Given the description of an element on the screen output the (x, y) to click on. 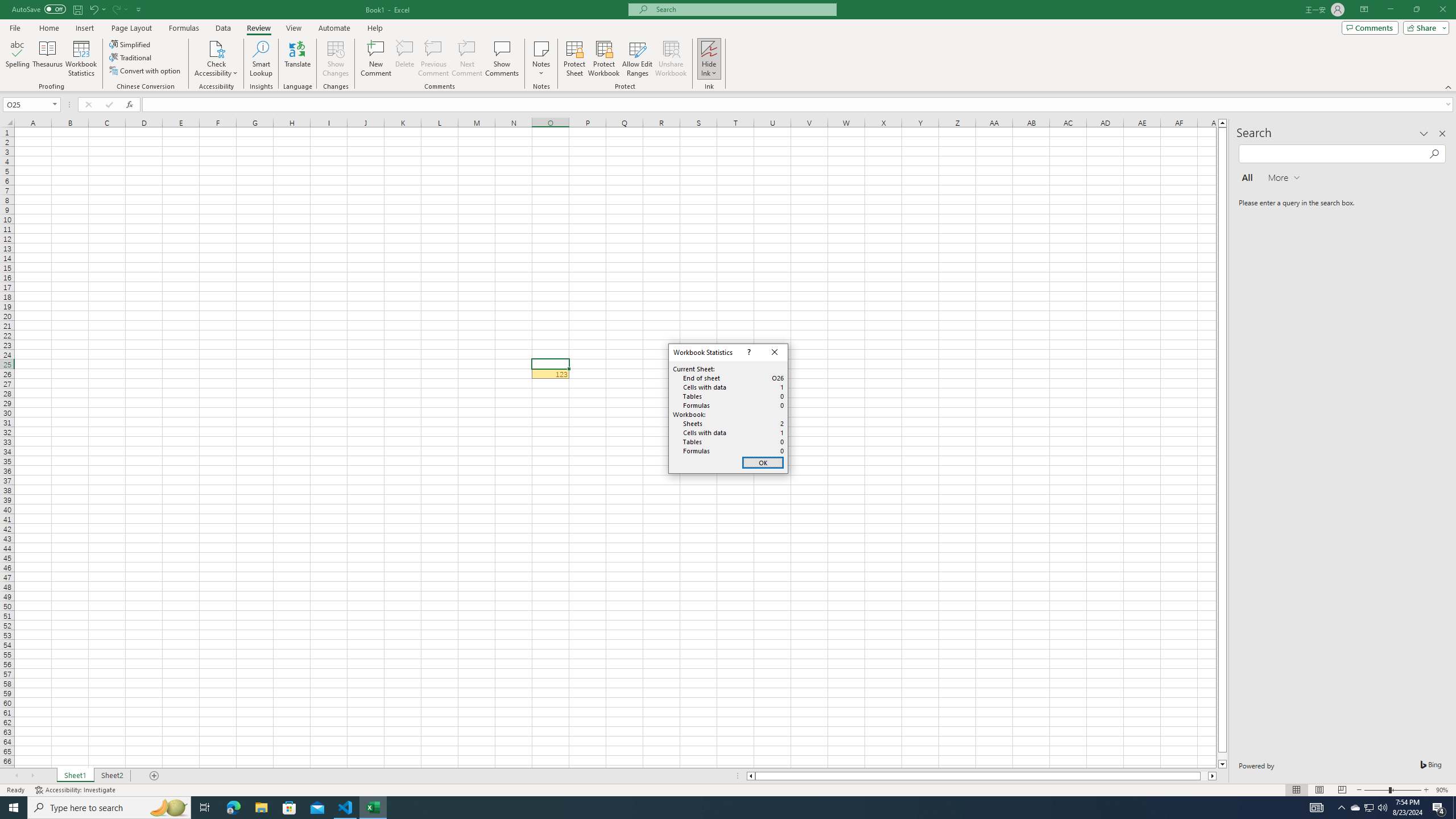
Translate (297, 58)
Spelling... (17, 58)
Zoom Out (1376, 790)
Comments (1369, 27)
Name Box (27, 104)
Zoom (1392, 790)
Check Accessibility (215, 48)
Normal (1296, 790)
Restore Down (1416, 9)
Home (48, 28)
Class: MsoCommandBar (728, 45)
Context help (748, 352)
Page Break Preview (1342, 790)
Sheet2 (112, 775)
Ribbon Display Options (1364, 9)
